Given the description of an element on the screen output the (x, y) to click on. 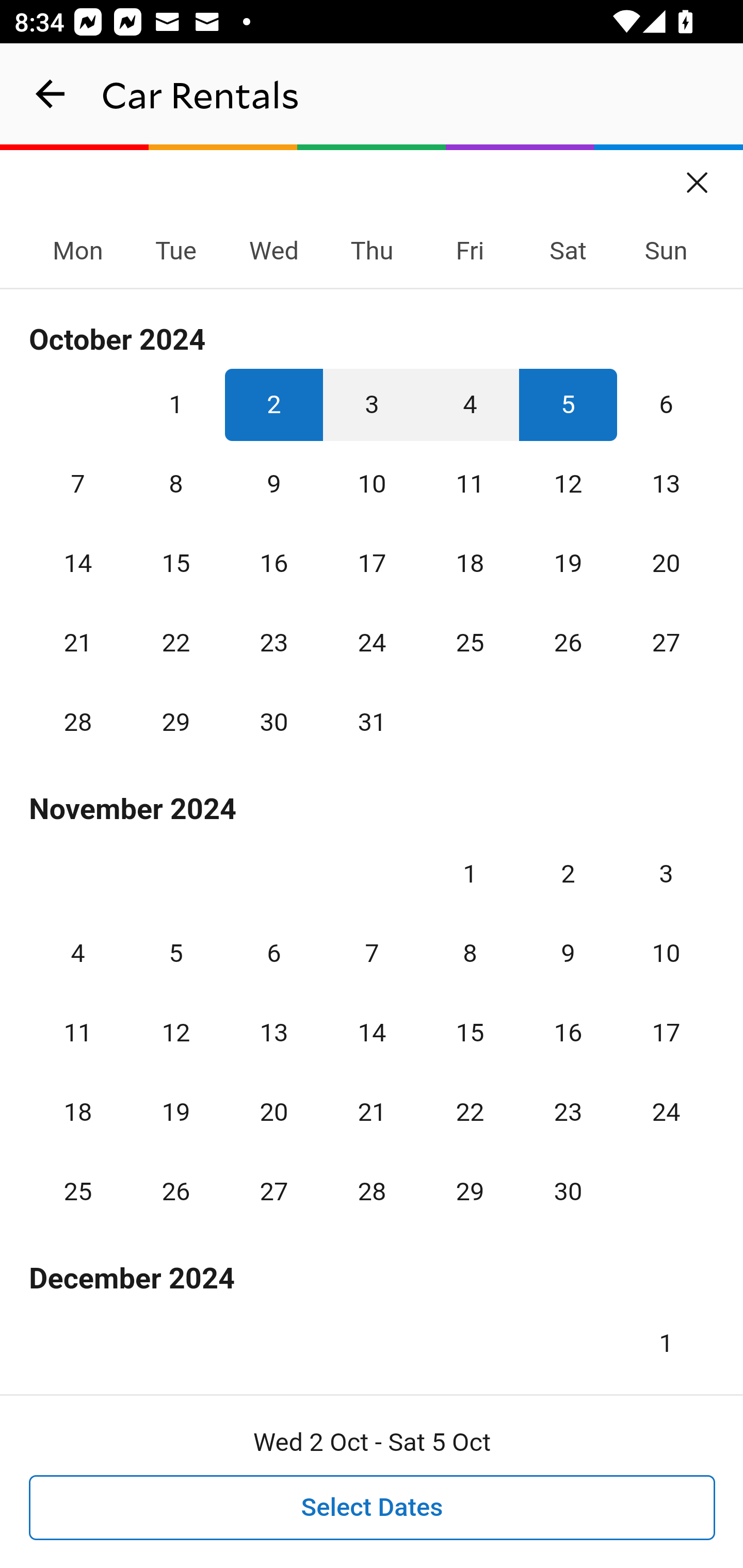
navigation_button (50, 93)
Close (697, 176)
1 October 2024 (175, 404)
2 October 2024 (273, 404)
3 October 2024 (371, 404)
4 October 2024 (470, 404)
5 October 2024 (567, 404)
6 October 2024 (665, 404)
7 October 2024 (77, 484)
8 October 2024 (175, 484)
9 October 2024 (273, 484)
10 October 2024 (371, 484)
11 October 2024 (470, 484)
12 October 2024 (567, 484)
13 October 2024 (665, 484)
14 October 2024 (77, 563)
15 October 2024 (175, 563)
16 October 2024 (273, 563)
17 October 2024 (371, 563)
18 October 2024 (470, 563)
19 October 2024 (567, 563)
20 October 2024 (665, 563)
21 October 2024 (77, 642)
22 October 2024 (175, 642)
23 October 2024 (273, 642)
24 October 2024 (371, 642)
25 October 2024 (470, 642)
26 October 2024 (567, 642)
27 October 2024 (665, 642)
28 October 2024 (77, 722)
29 October 2024 (175, 722)
30 October 2024 (273, 722)
31 October 2024 (371, 722)
1 November 2024 (470, 873)
2 November 2024 (567, 873)
3 November 2024 (665, 873)
4 November 2024 (77, 952)
5 November 2024 (175, 952)
6 November 2024 (273, 952)
7 November 2024 (371, 952)
8 November 2024 (470, 952)
9 November 2024 (567, 952)
10 November 2024 (665, 952)
11 November 2024 (77, 1032)
12 November 2024 (175, 1032)
13 November 2024 (273, 1032)
14 November 2024 (371, 1032)
15 November 2024 (470, 1032)
16 November 2024 (567, 1032)
17 November 2024 (665, 1032)
18 November 2024 (77, 1112)
19 November 2024 (175, 1112)
20 November 2024 (273, 1112)
21 November 2024 (371, 1112)
22 November 2024 (470, 1112)
23 November 2024 (567, 1112)
24 November 2024 (665, 1112)
25 November 2024 (77, 1191)
26 November 2024 (175, 1191)
27 November 2024 (273, 1191)
28 November 2024 (371, 1191)
29 November 2024 (470, 1191)
30 November 2024 (567, 1191)
1 December 2024 (665, 1336)
Select Dates (372, 1508)
